Given the description of an element on the screen output the (x, y) to click on. 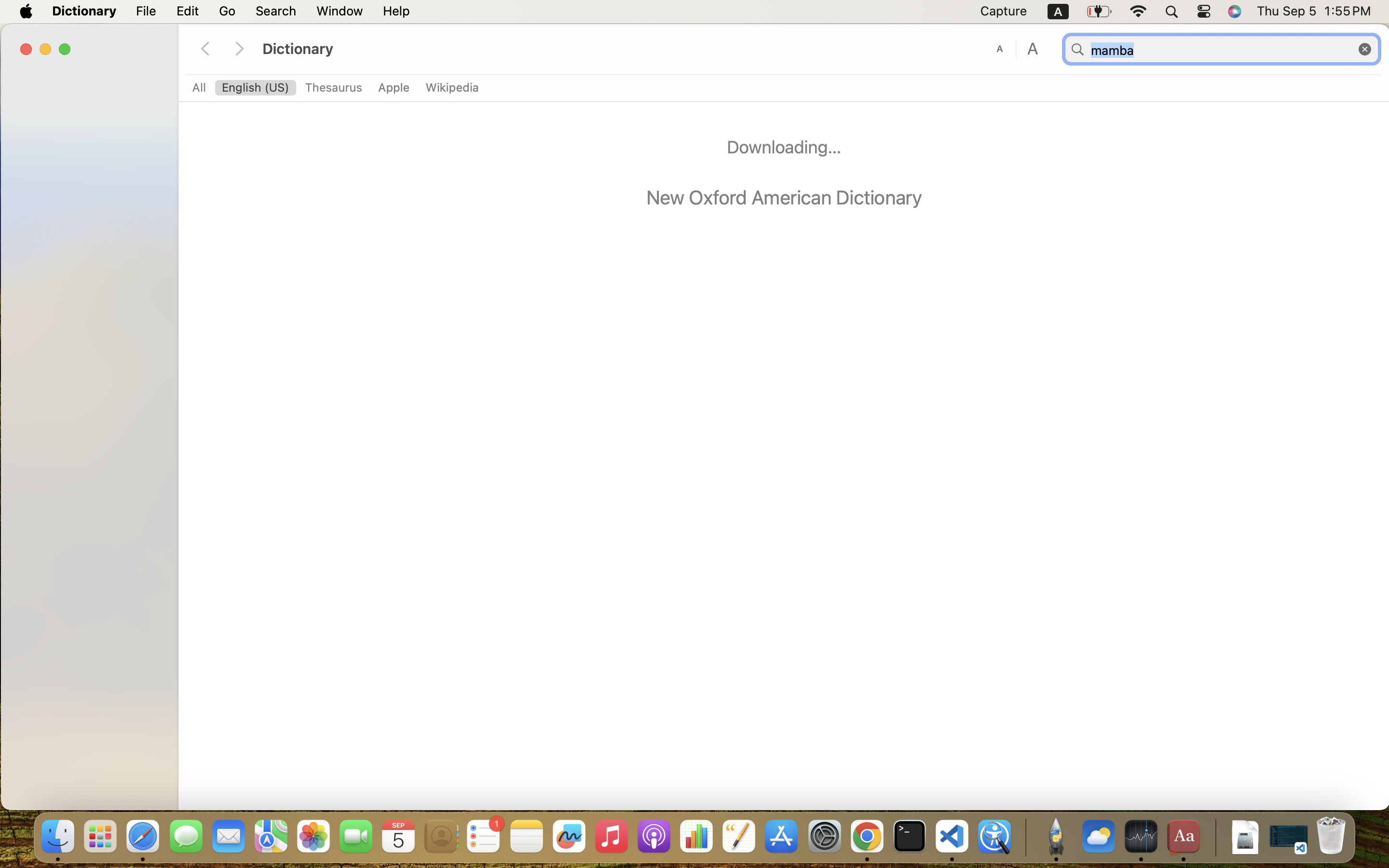
mamba Element type: AXTextField (1221, 49)
Downloading… Element type: AXStaticText (784, 146)
